Given the description of an element on the screen output the (x, y) to click on. 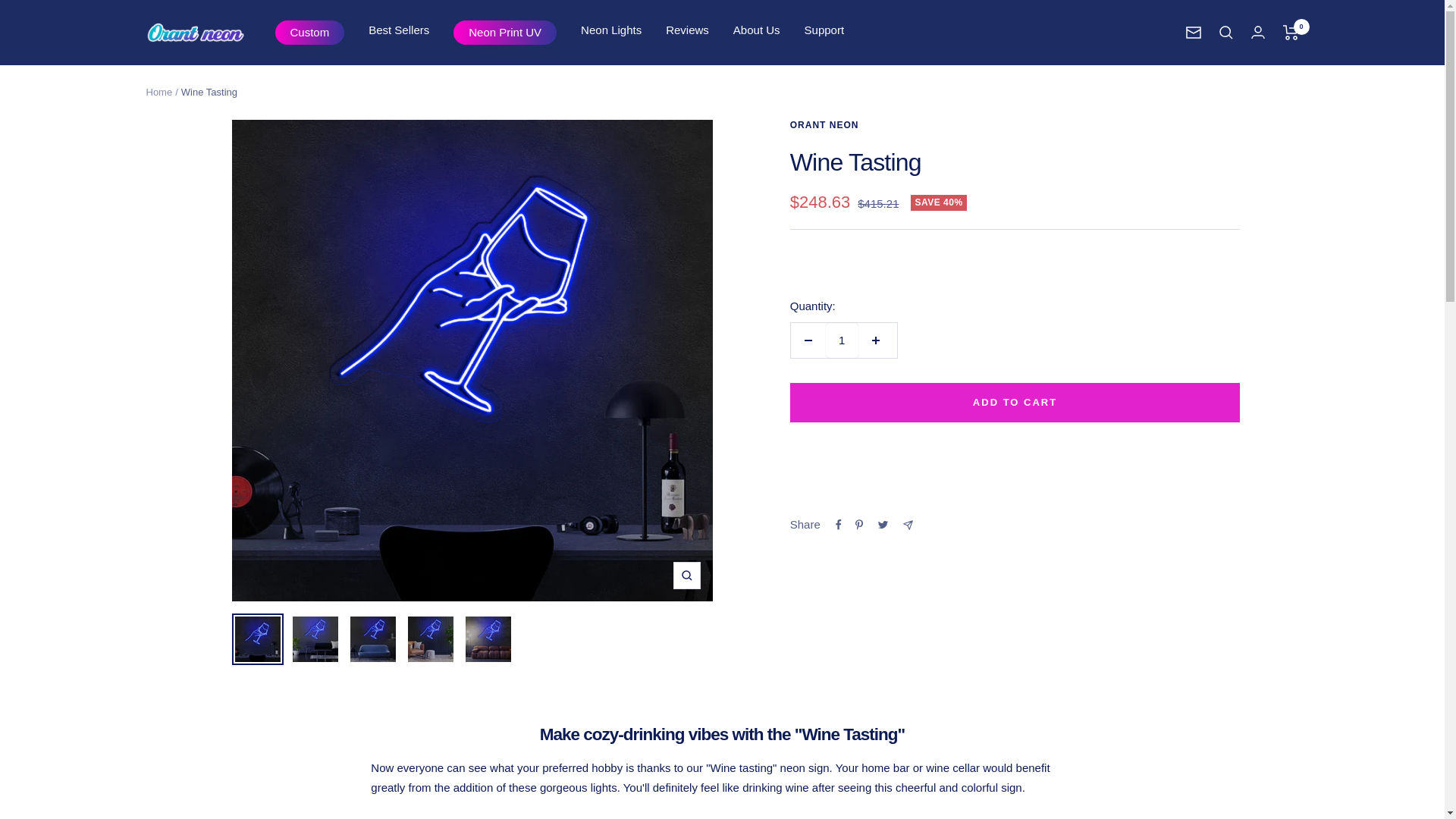
1 (842, 339)
Neon Print UV (504, 32)
0 (1290, 32)
Newsletter (1193, 32)
Custom (309, 32)
About Us (756, 30)
Reviews (687, 30)
Orant Neon (194, 31)
Neon Lights (611, 30)
Best Sellers (398, 30)
Support (824, 30)
